Given the description of an element on the screen output the (x, y) to click on. 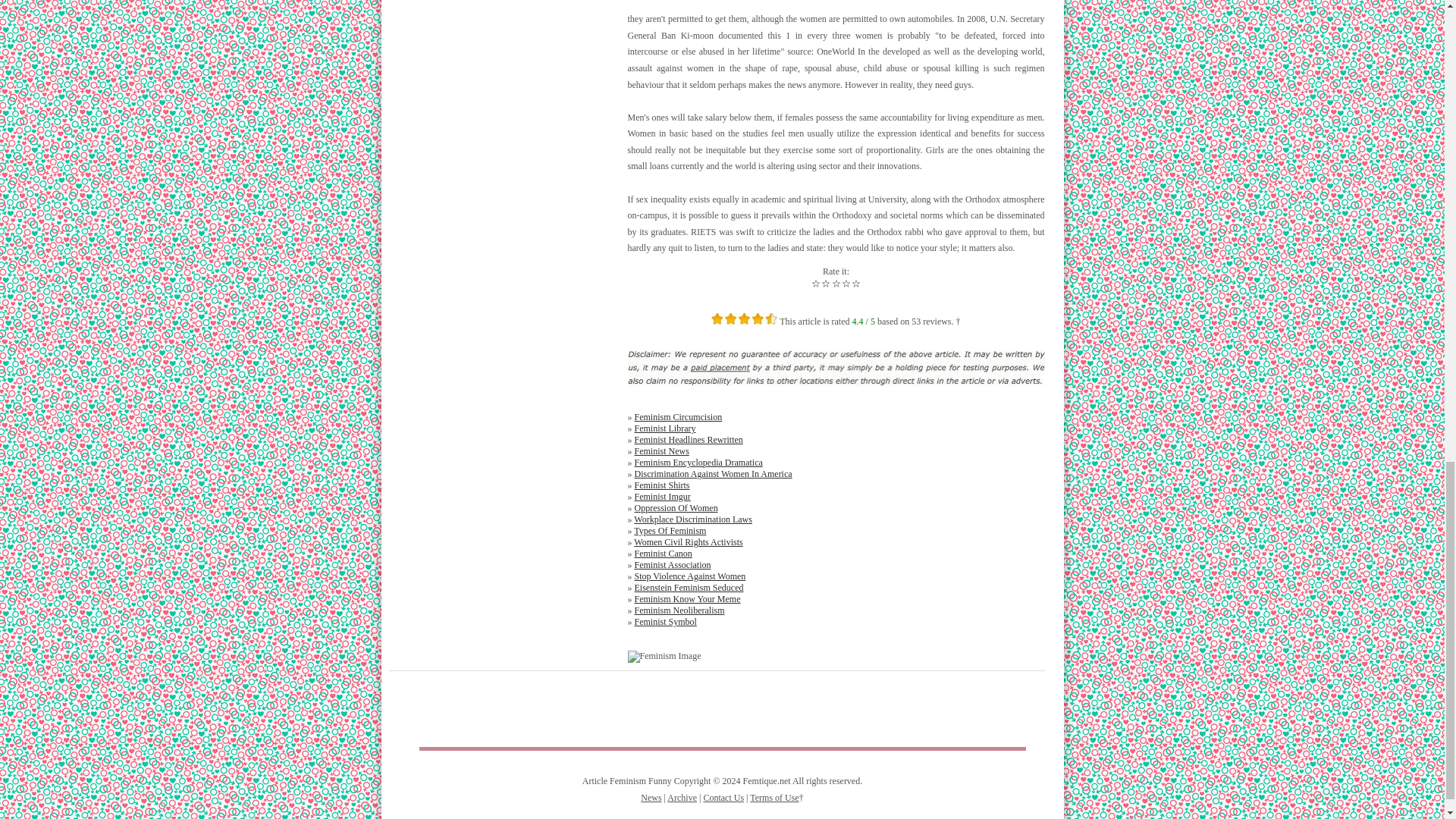
Types Of Feminism (669, 530)
Oppression Of Women (675, 507)
Discrimination Against Women In America (712, 473)
Terms of Use (773, 797)
Feminist Imgur (661, 496)
Eisenstein Feminism Seduced (687, 587)
Feminism Encyclopedia Dramatica (697, 462)
Women Civil Rights Activists (687, 542)
News (650, 797)
Contact Us (723, 797)
Workplace Discrimination Laws (692, 519)
Feminist Headlines Rewritten (687, 439)
Feminist Association (671, 564)
Feminist Symbol (664, 621)
Feminist Library (664, 428)
